Given the description of an element on the screen output the (x, y) to click on. 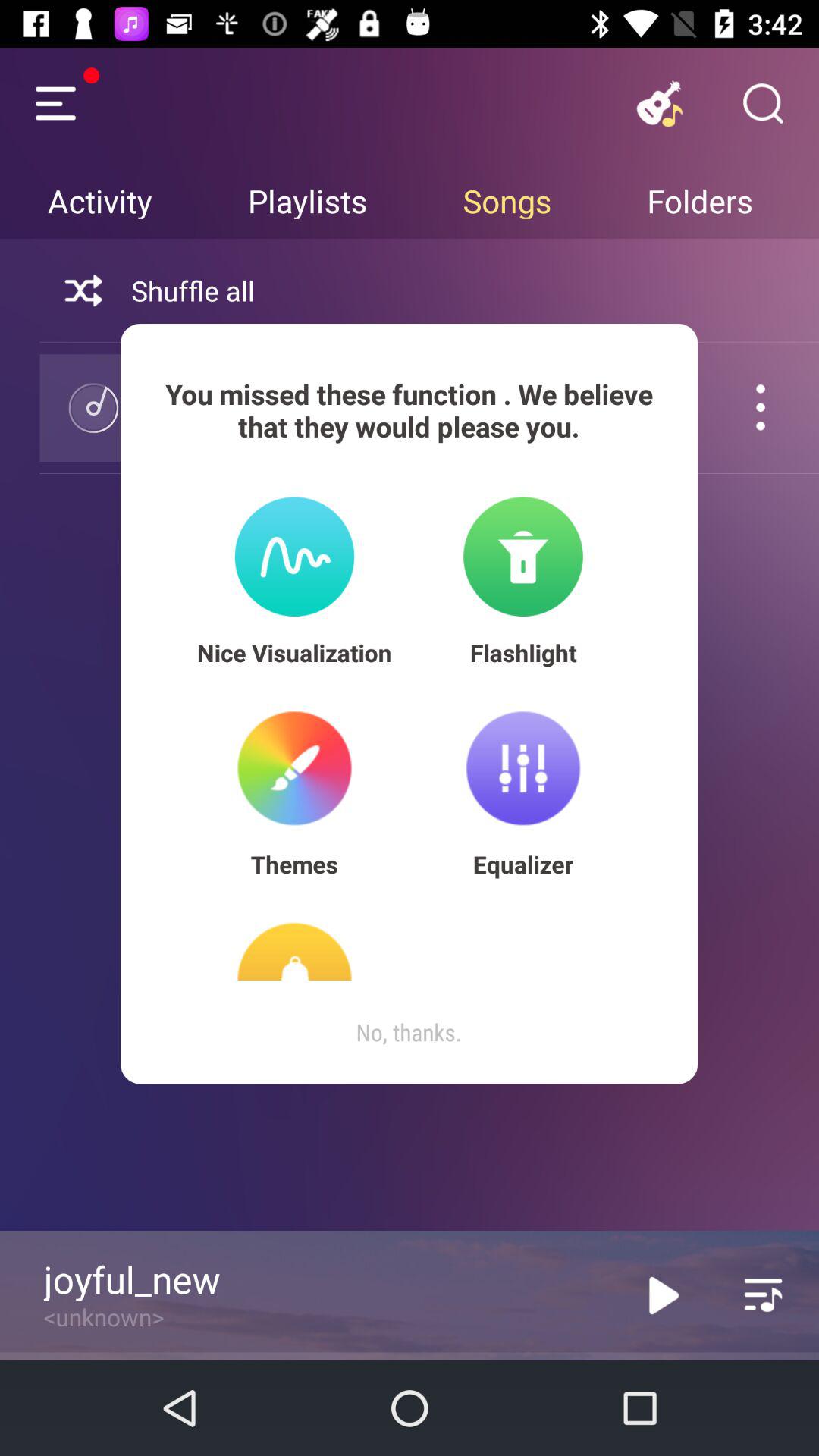
flip to the flashlight (523, 652)
